Given the description of an element on the screen output the (x, y) to click on. 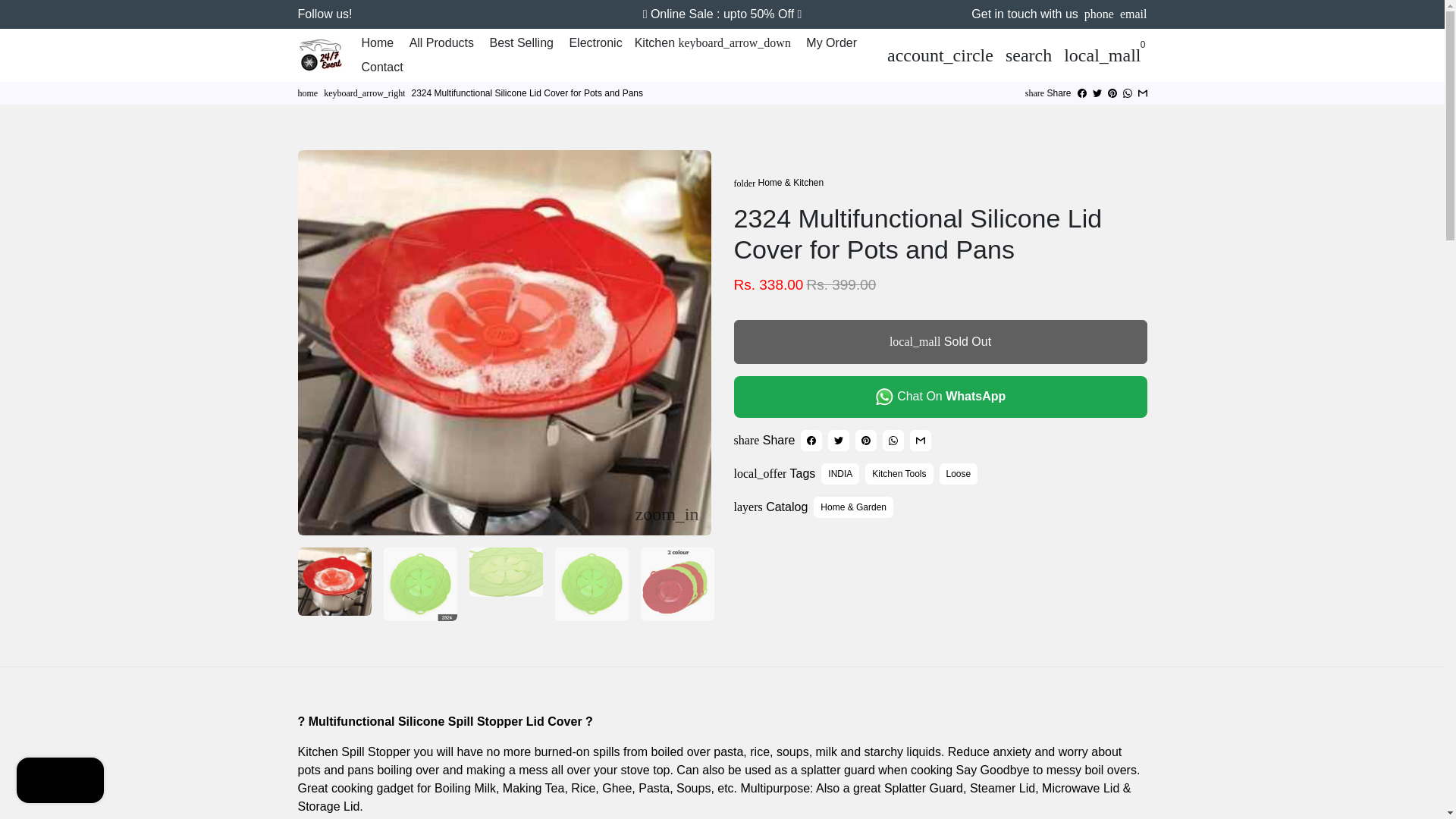
Home (376, 42)
My Order (831, 42)
Log In (939, 54)
Best Selling (521, 42)
Electronic (594, 42)
24by7 event online shopping  (307, 92)
All Products (441, 42)
Search (1028, 54)
phone (1098, 13)
